Given the description of an element on the screen output the (x, y) to click on. 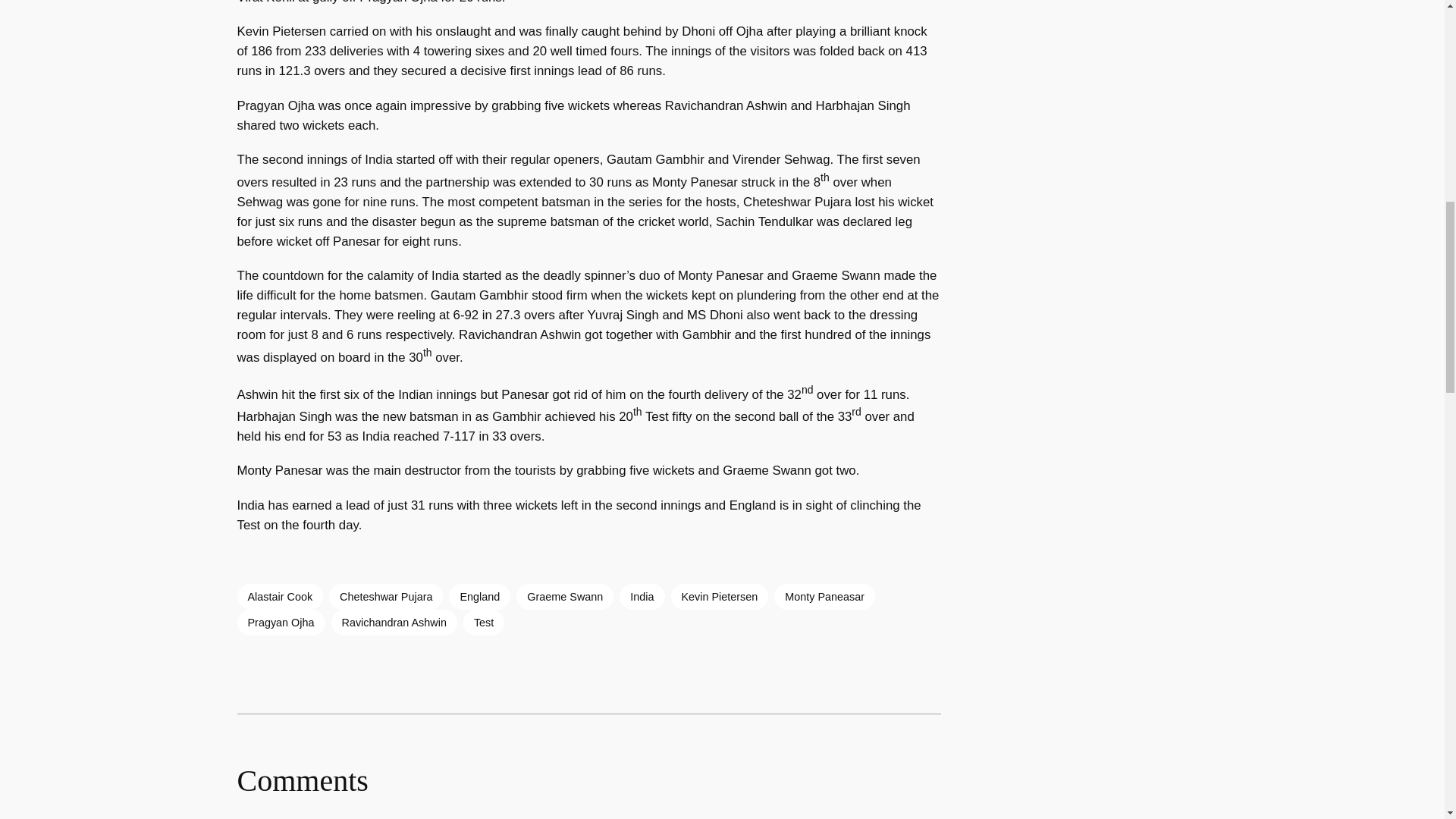
Test (483, 622)
Ravichandran Ashwin (393, 622)
India (641, 596)
Monty Paneasar (824, 596)
England (479, 596)
Alastair Cook (279, 596)
Graeme Swann (564, 596)
Kevin Pietersen (718, 596)
Pragyan Ojha (279, 622)
Cheteshwar Pujara (385, 596)
